Given the description of an element on the screen output the (x, y) to click on. 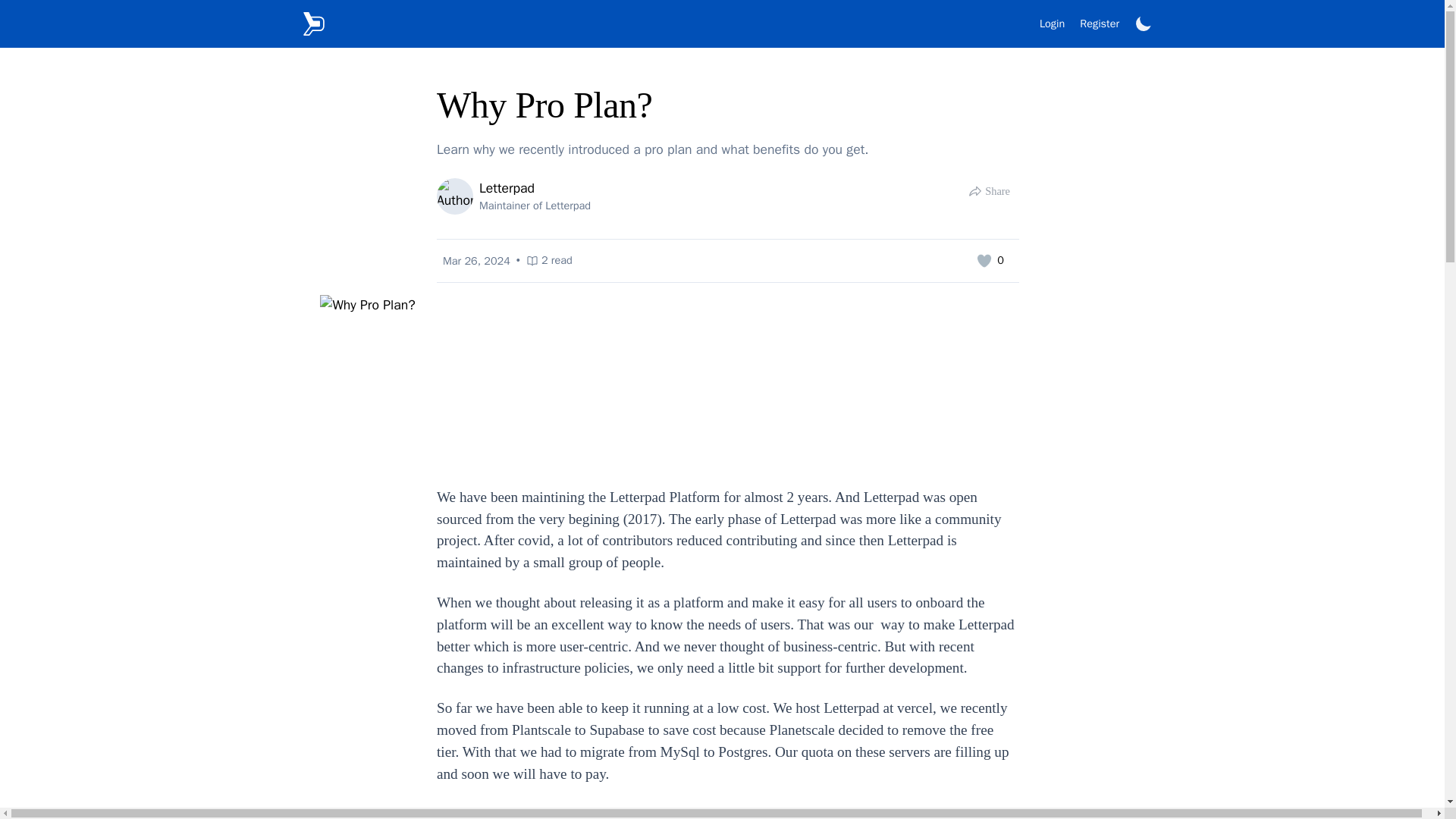
Register (1099, 23)
Share (989, 191)
Login (1051, 23)
0 (513, 196)
